Given the description of an element on the screen output the (x, y) to click on. 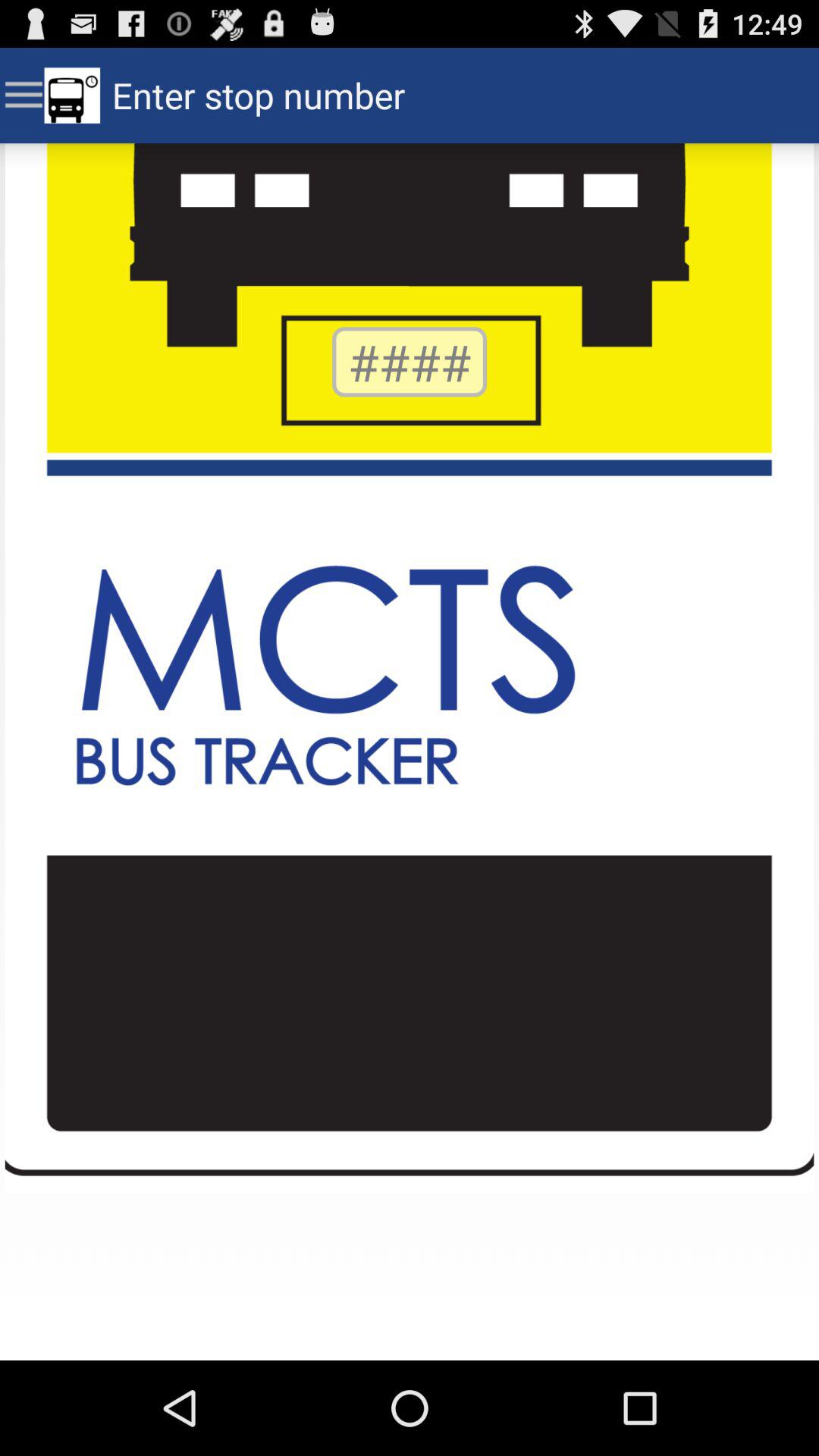
stop number entry field (409, 361)
